Given the description of an element on the screen output the (x, y) to click on. 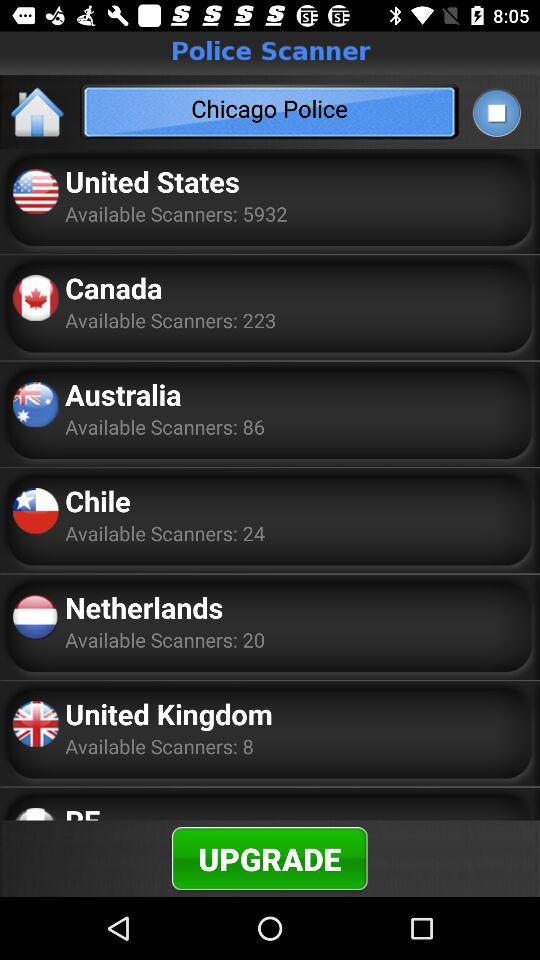
choose item next to the pe item (269, 858)
